Given the description of an element on the screen output the (x, y) to click on. 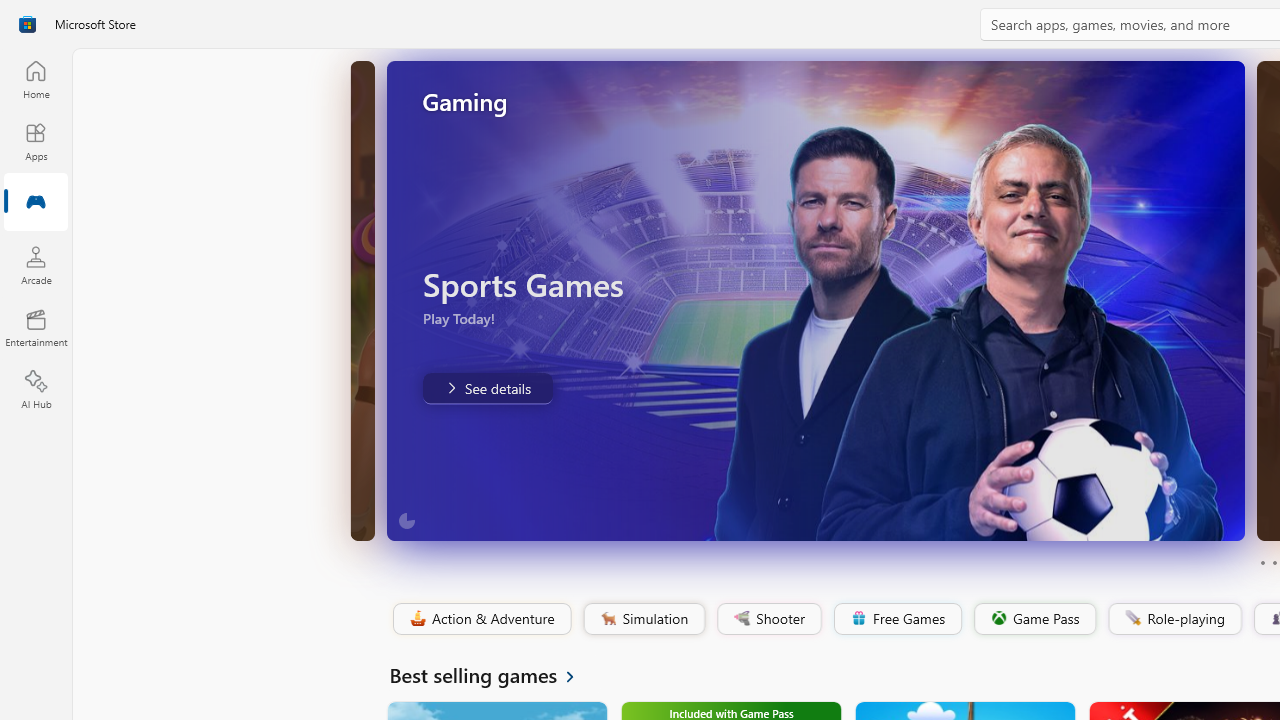
Sports Games. Play Today!.  . See details (486, 387)
Game Pass (1033, 619)
Entertainment (35, 327)
Role-playing (1174, 619)
Page 2 (1274, 562)
Apps (35, 141)
AI Hub (35, 390)
See all  Best selling games (493, 674)
Home (35, 79)
Arcade (35, 265)
Class: Image (1132, 617)
Shooter (767, 619)
Gaming (35, 203)
Simulation (643, 619)
Page 1 (1261, 562)
